Given the description of an element on the screen output the (x, y) to click on. 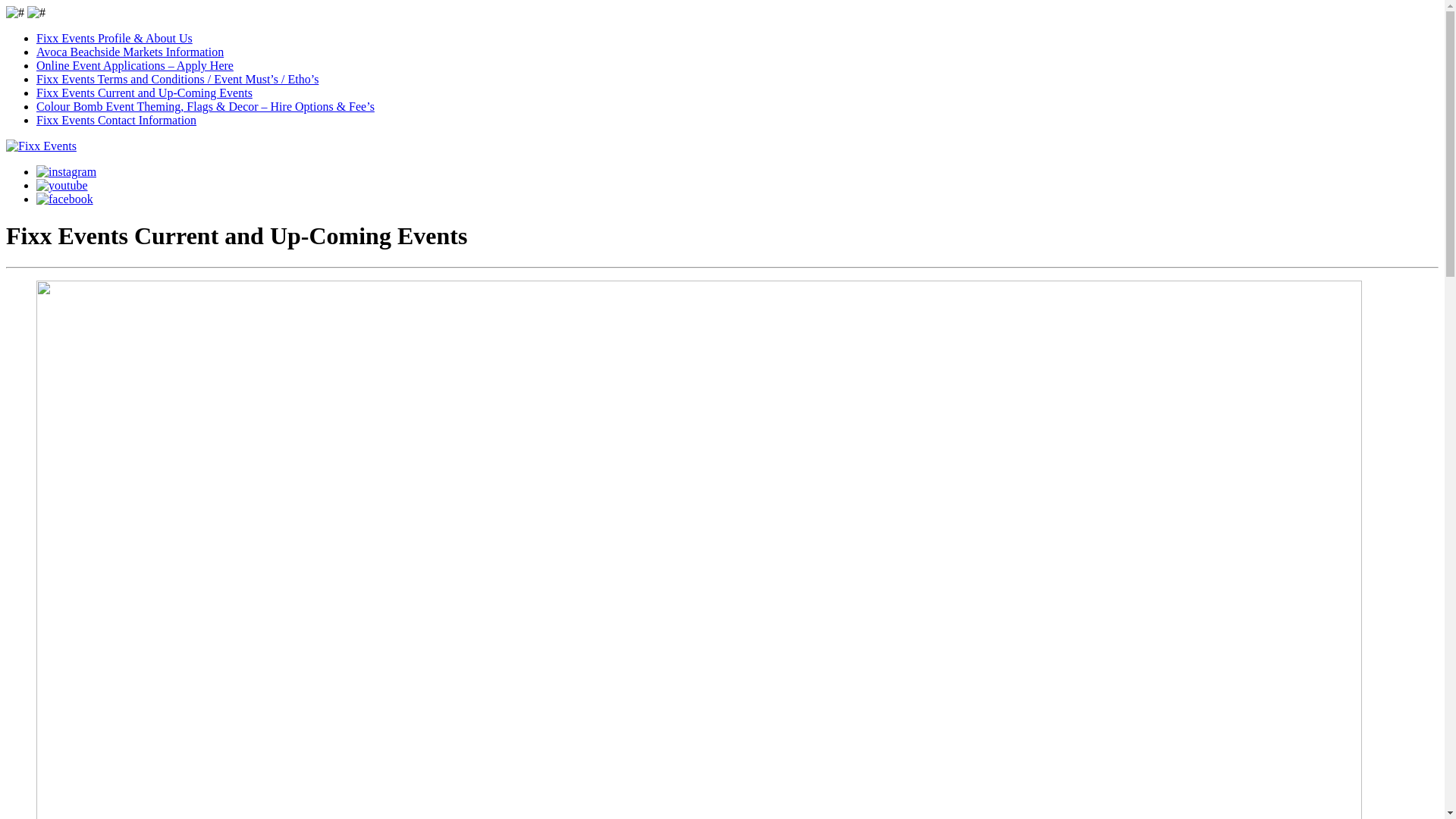
Fixx Events Current and Up-Coming Events Element type: text (144, 92)
Avoca Beachside Markets Information Element type: text (129, 51)
Fixx Events Contact Information Element type: text (116, 119)
Fixx Events Profile & About Us Element type: text (114, 37)
